Given the description of an element on the screen output the (x, y) to click on. 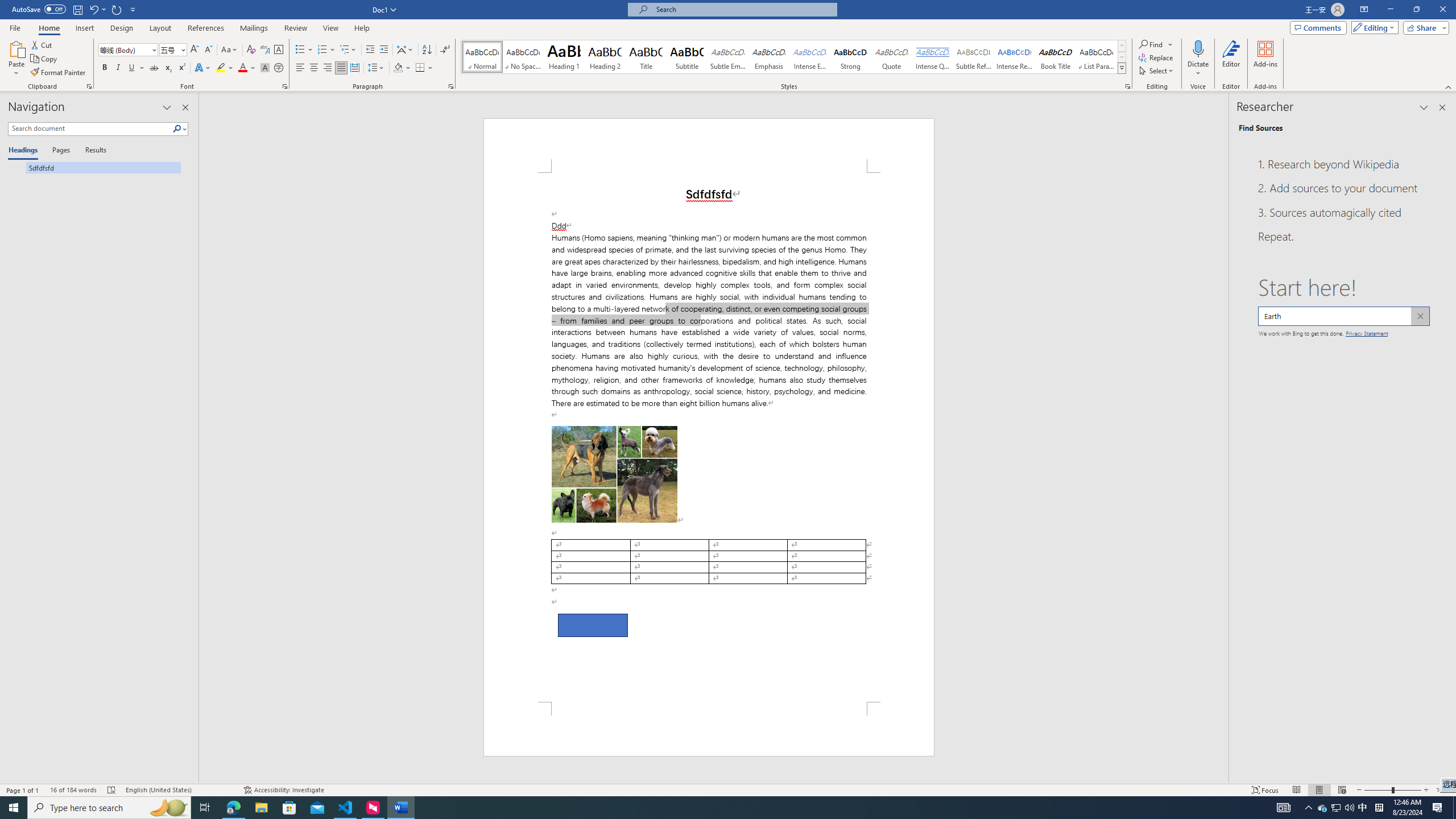
Row Down (1121, 56)
Copy (45, 58)
Pages (59, 150)
Styles (1121, 67)
Task Pane Options (1423, 107)
Help (361, 28)
View (330, 28)
Font (124, 49)
Increase Indent (383, 49)
Intense Quote (932, 56)
Web Layout (1342, 790)
Dictate (1197, 58)
Align Left (300, 67)
Distributed (354, 67)
